Given the description of an element on the screen output the (x, y) to click on. 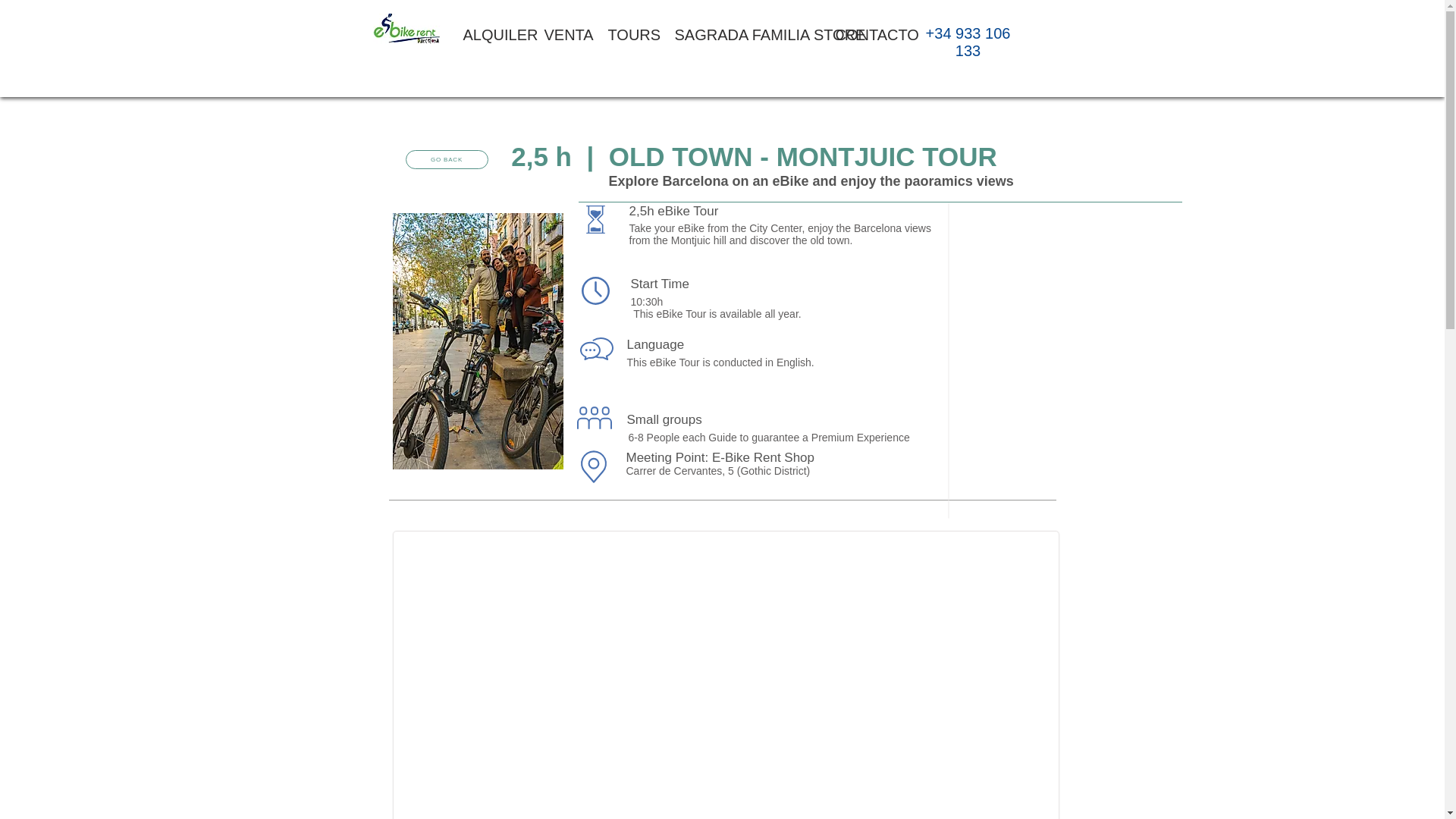
CONTACTO (866, 34)
VENTA (563, 34)
ALQUILER (491, 34)
GO BACK (445, 158)
SAGRADA FAMILIA STORE (743, 34)
TOURS (628, 34)
